Given the description of an element on the screen output the (x, y) to click on. 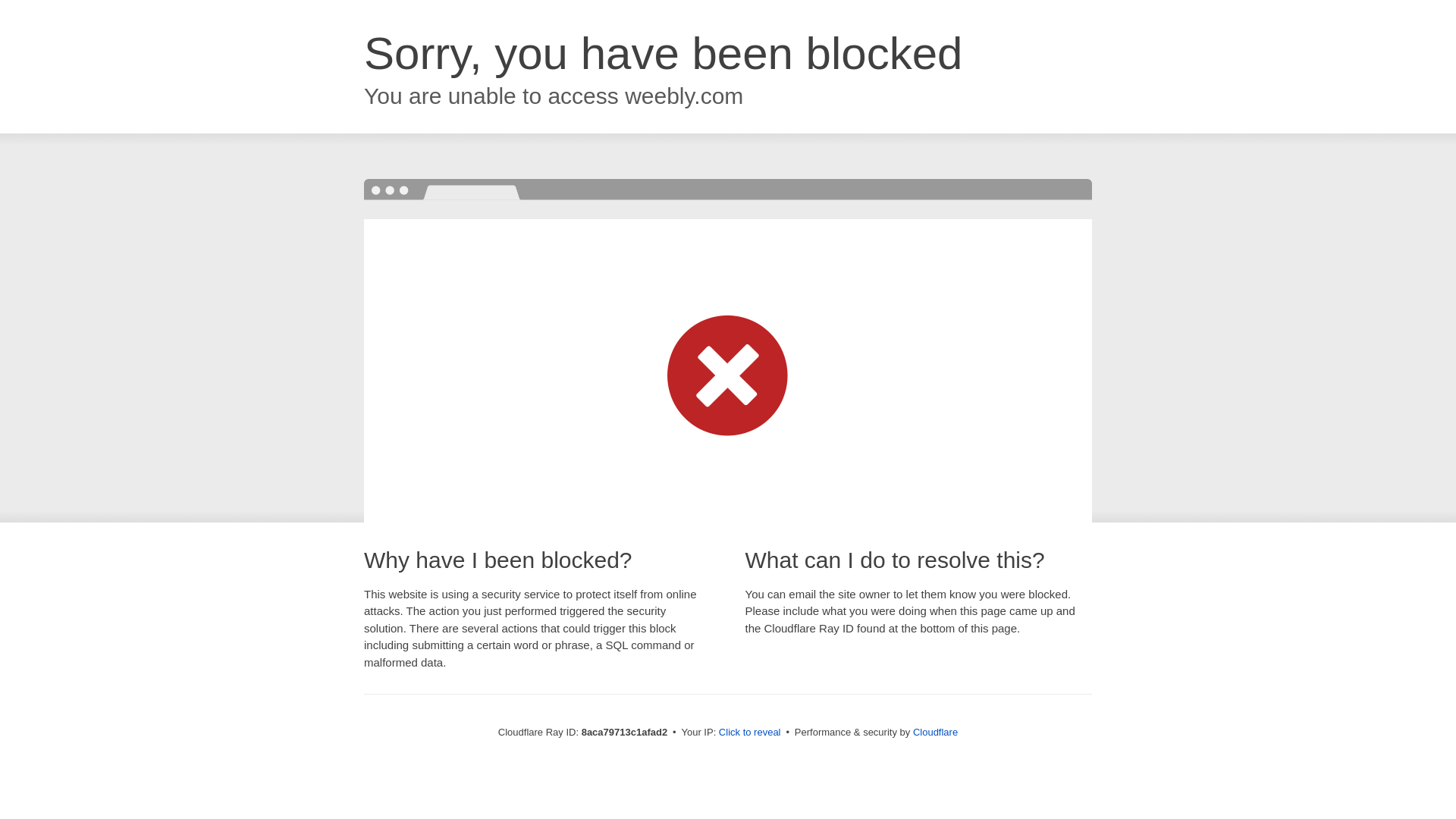
Cloudflare (935, 731)
Click to reveal (749, 732)
